Given the description of an element on the screen output the (x, y) to click on. 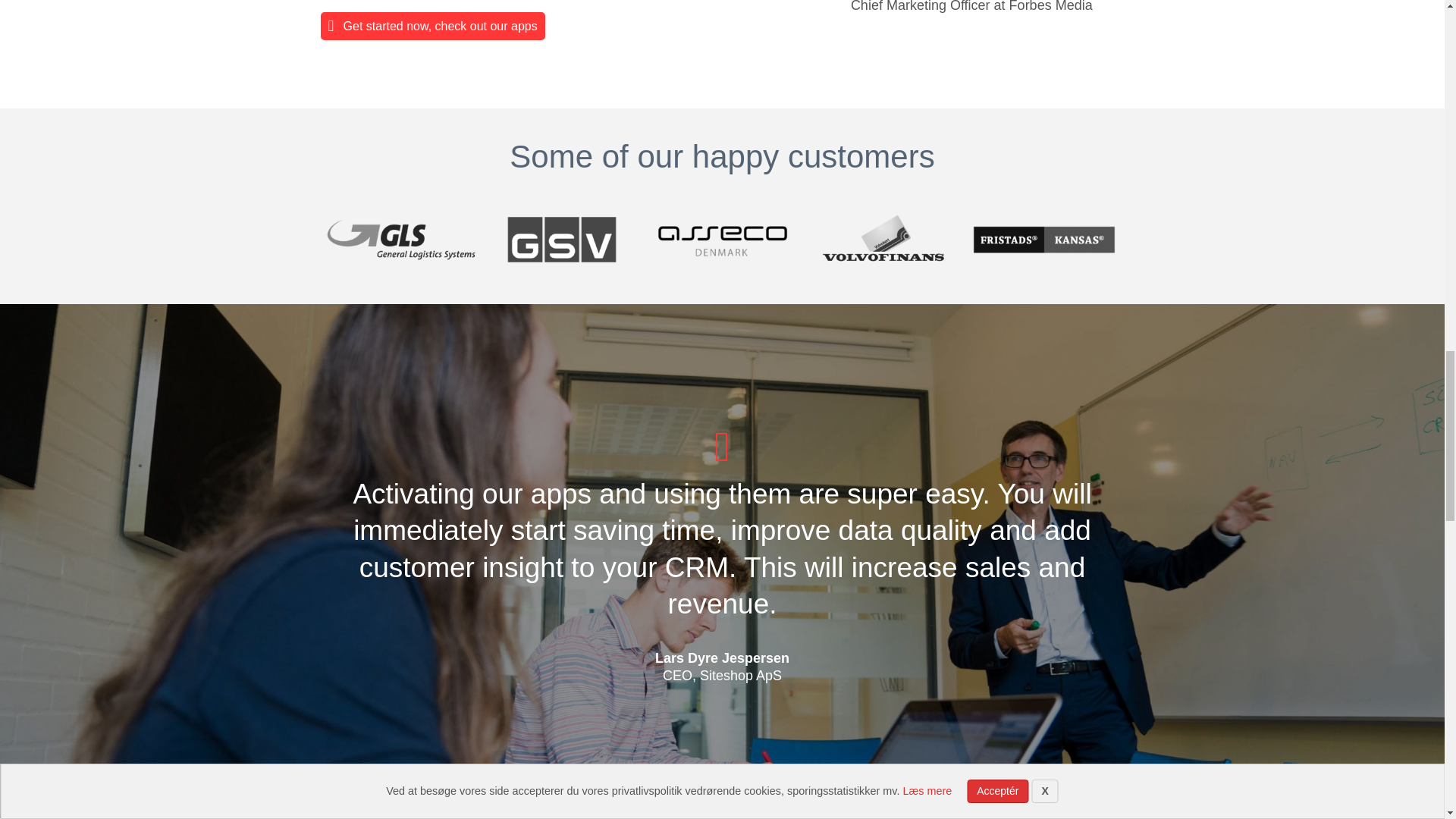
gsv (561, 239)
asseco (722, 239)
Get started now, check out our apps (432, 26)
